Given the description of an element on the screen output the (x, y) to click on. 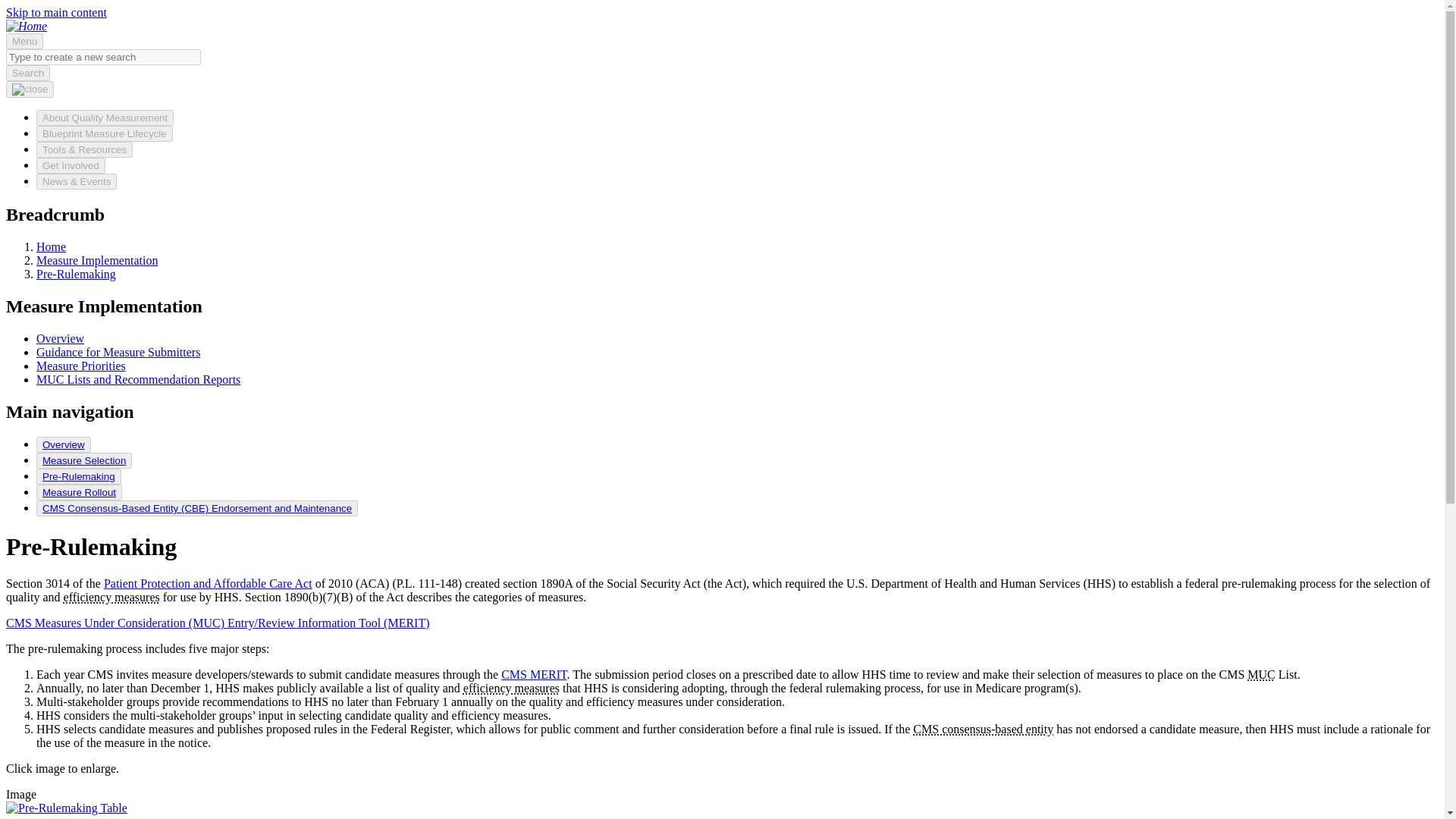
Measure Rollout (79, 492)
About Quality Measurement (104, 117)
Patient Protection and Affordable Care Act (208, 583)
Pre-Rulemaking (78, 476)
Skip to main content (55, 11)
Overview (60, 338)
Get Involved (70, 165)
MUC Lists and Recommendation Reports (138, 379)
Pre-Rulemaking (78, 476)
Pre-Rulemaking (76, 273)
Measure Implementation (96, 259)
Overview (63, 444)
Guidance for Measure Submitters (118, 351)
Home (50, 246)
Measure Rollout (79, 491)
